Given the description of an element on the screen output the (x, y) to click on. 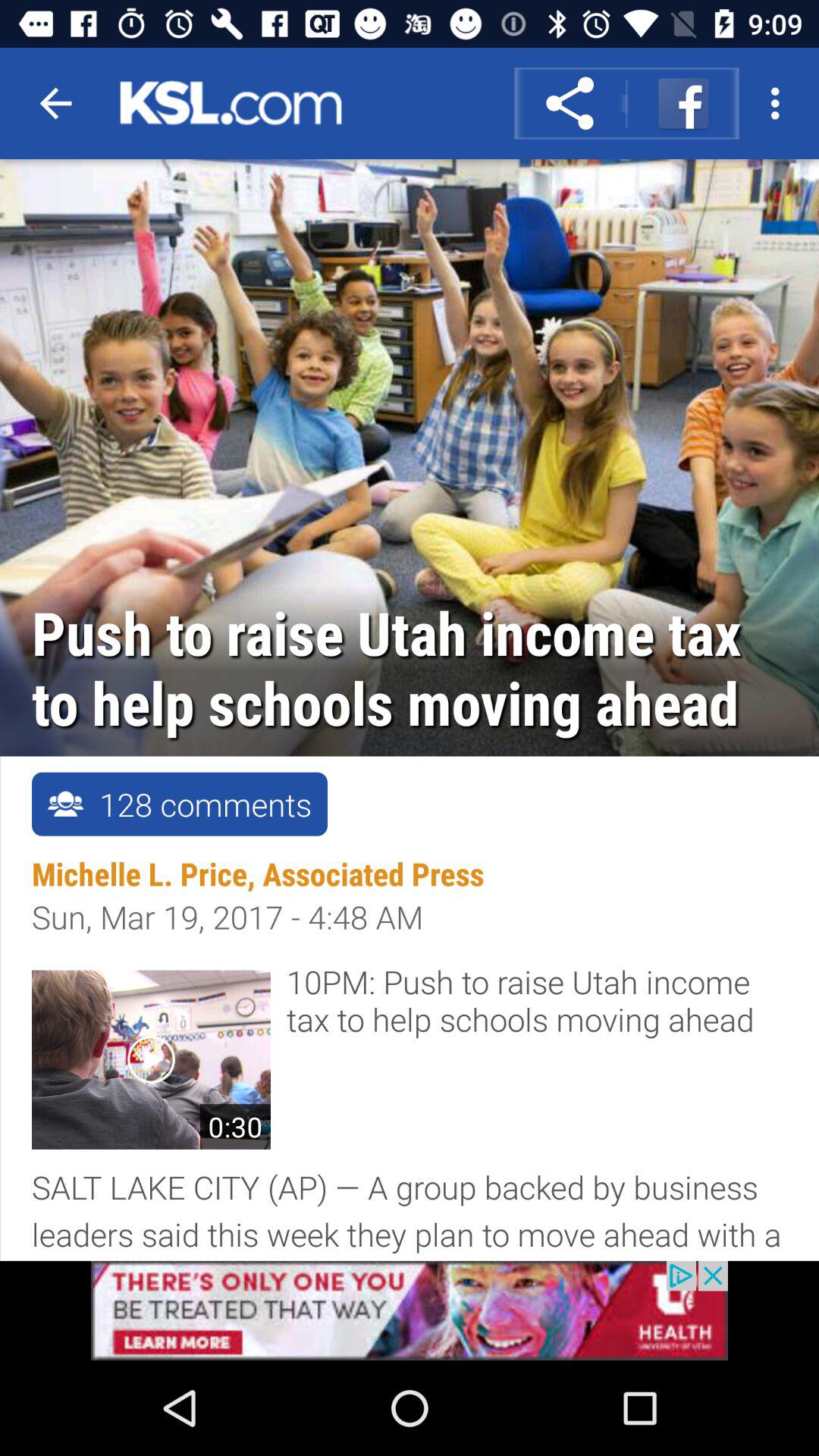
visit advertiser (409, 1310)
